Given the description of an element on the screen output the (x, y) to click on. 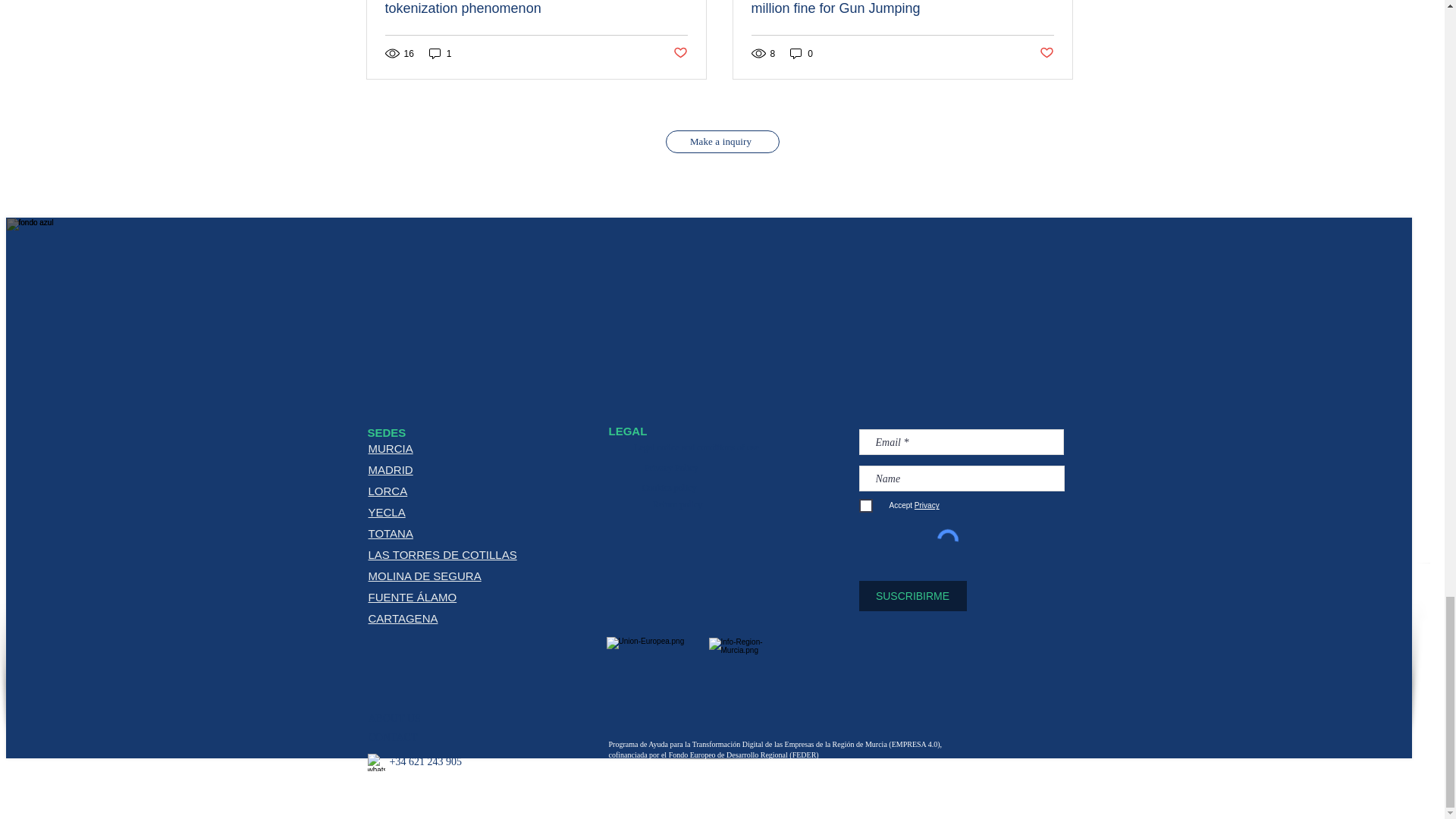
ABOUT US (394, 717)
Post not marked as liked (1045, 53)
Return policy (677, 503)
Post not marked as liked (679, 53)
1 (440, 52)
Cookies policy (668, 487)
Privacy (925, 505)
0 (801, 52)
Make a inquiry (721, 141)
CONTACT (392, 737)
